Given the description of an element on the screen output the (x, y) to click on. 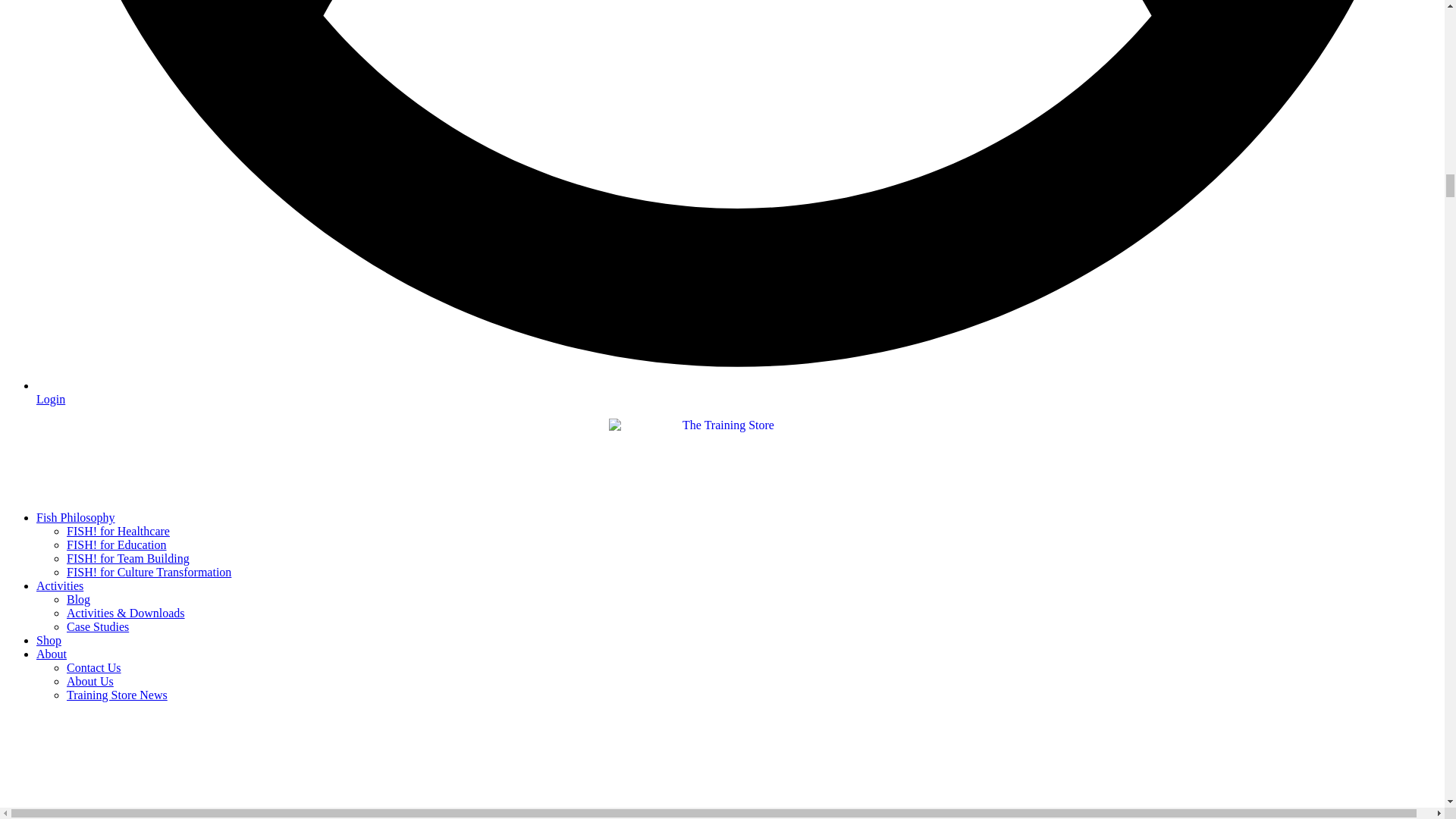
Blog (78, 599)
FISH! for Team Building (127, 558)
FISH! for Education (116, 544)
About (51, 653)
Case Studies (97, 626)
Training Store News (116, 694)
FISH! for Healthcare (118, 530)
Login (737, 392)
Fish Philosophy (75, 517)
FISH! for Culture Transformation (148, 571)
